Given the description of an element on the screen output the (x, y) to click on. 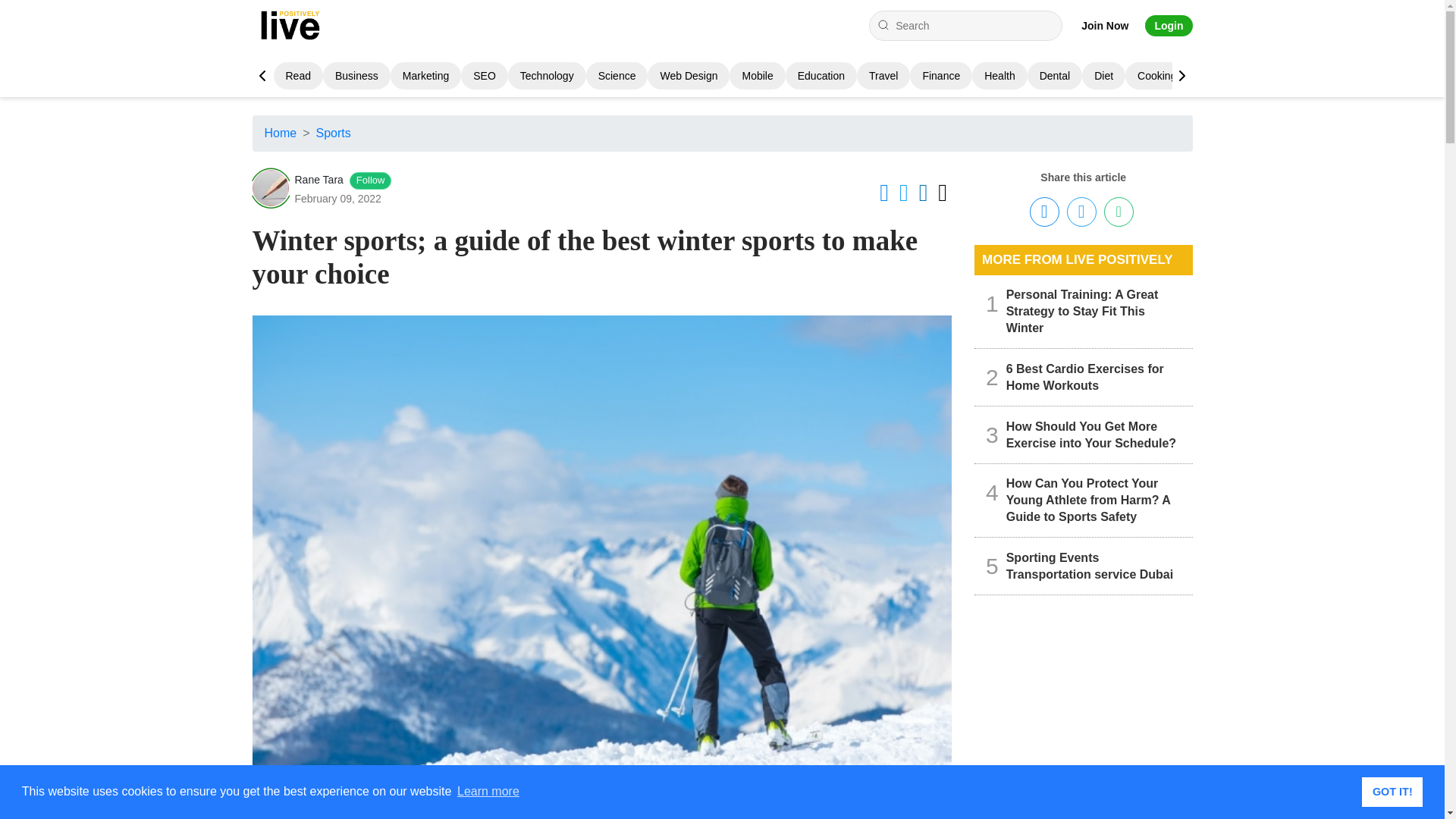
Mobile (757, 75)
Travel (883, 75)
Technology (546, 75)
Health (999, 75)
Login (1168, 25)
Share via Email (1118, 211)
GOT IT! (1391, 791)
Learn more (487, 791)
Science (617, 75)
Business (356, 75)
